Given the description of an element on the screen output the (x, y) to click on. 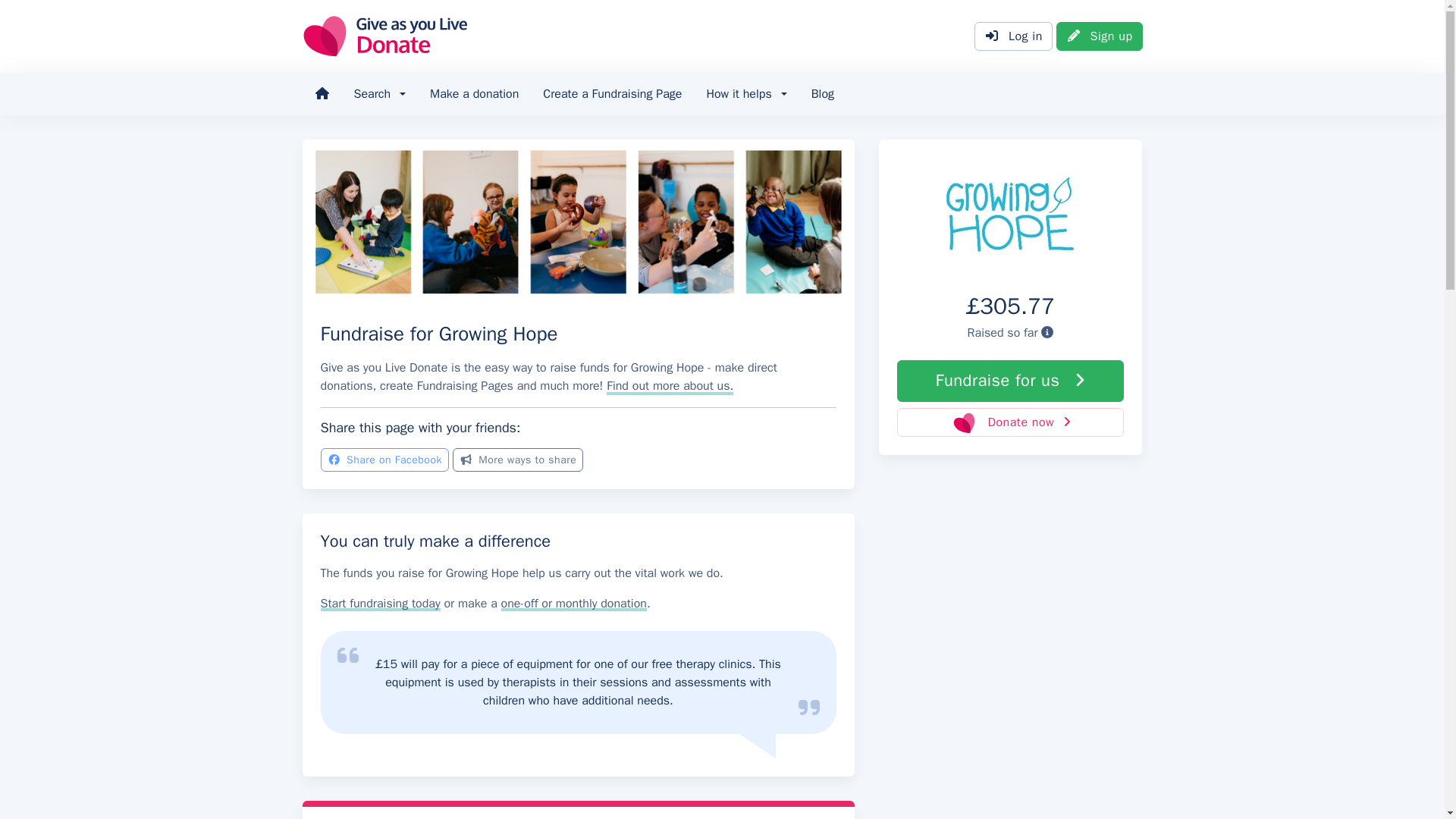
Log in (1013, 36)
Home (320, 93)
Make a donation (474, 93)
Blog (822, 93)
More ways to share (517, 459)
Create a Fundraising Page (612, 93)
How it helps (745, 93)
Find out more about us. (670, 385)
Fundraise for us (1010, 381)
Search (378, 93)
